Given the description of an element on the screen output the (x, y) to click on. 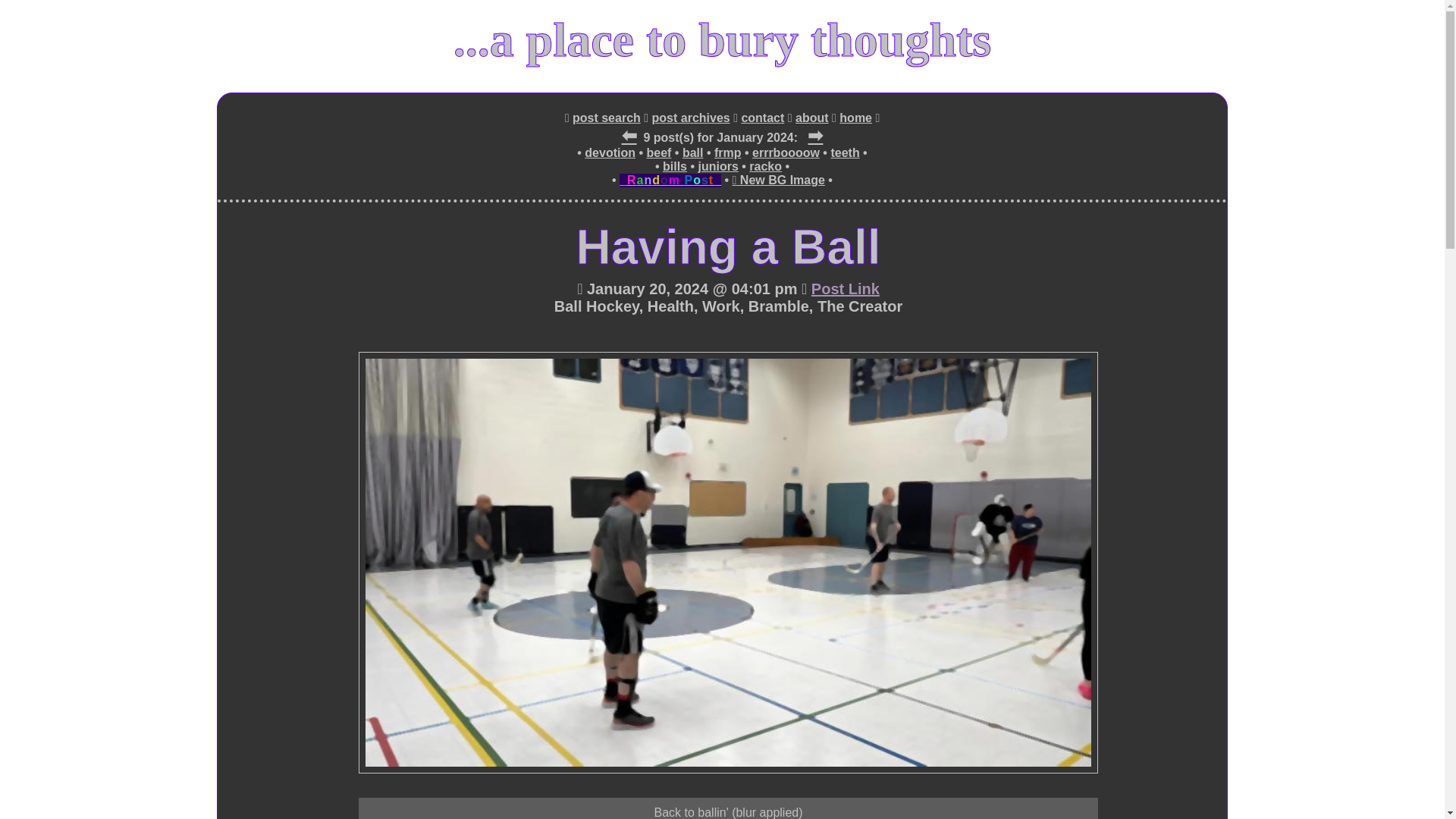
frmp (727, 152)
Post Link (844, 289)
contact (762, 118)
about (811, 118)
beef (658, 152)
post search (606, 118)
ball (692, 152)
errrboooow (785, 152)
...a place to bury thoughts (721, 39)
devotion (609, 152)
teeth (844, 152)
home (856, 118)
post archives (691, 118)
bills (674, 166)
